Given the description of an element on the screen output the (x, y) to click on. 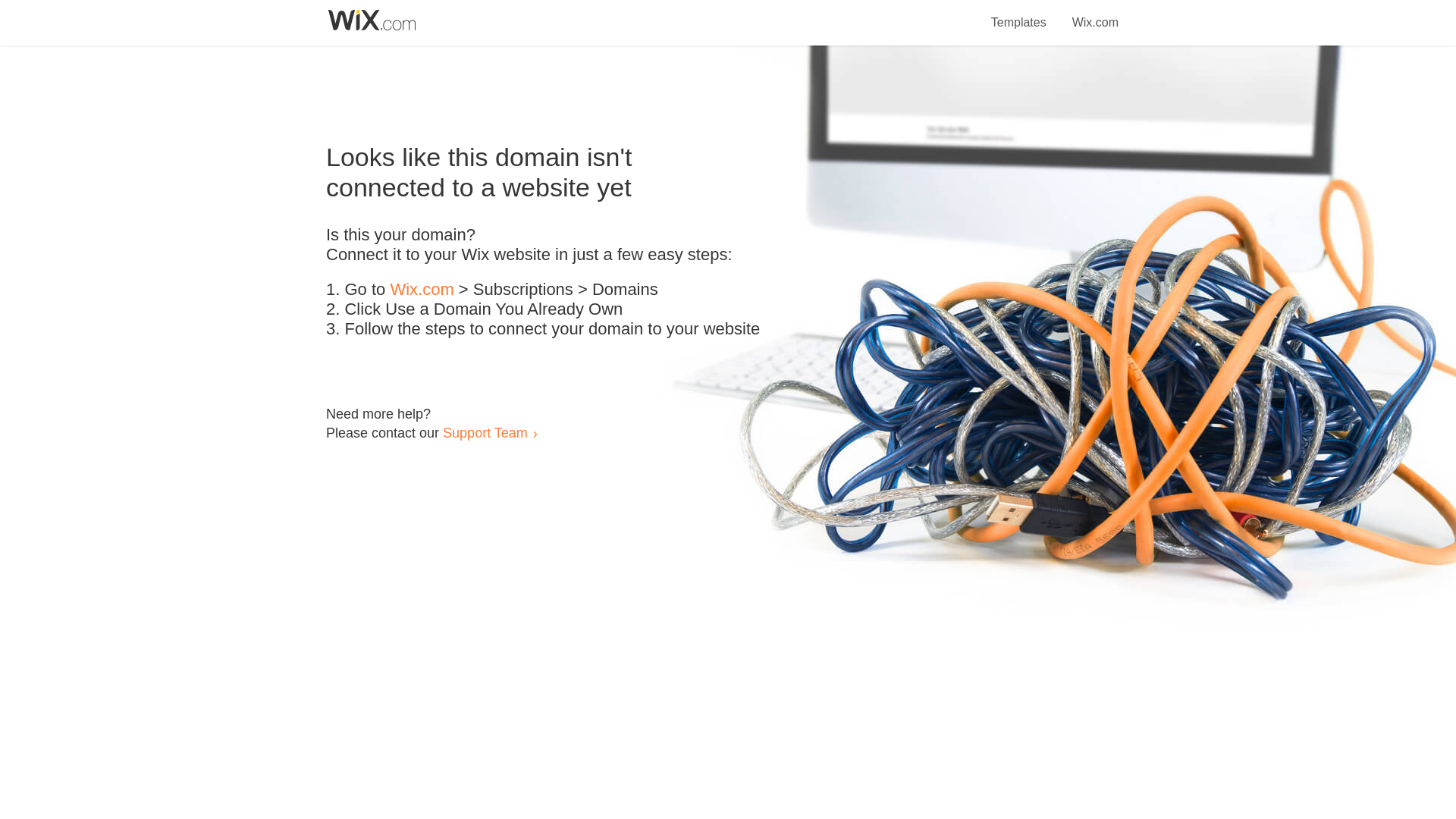
Wix.com (421, 289)
Templates (1018, 14)
Support Team (484, 432)
Wix.com (1095, 14)
